Given the description of an element on the screen output the (x, y) to click on. 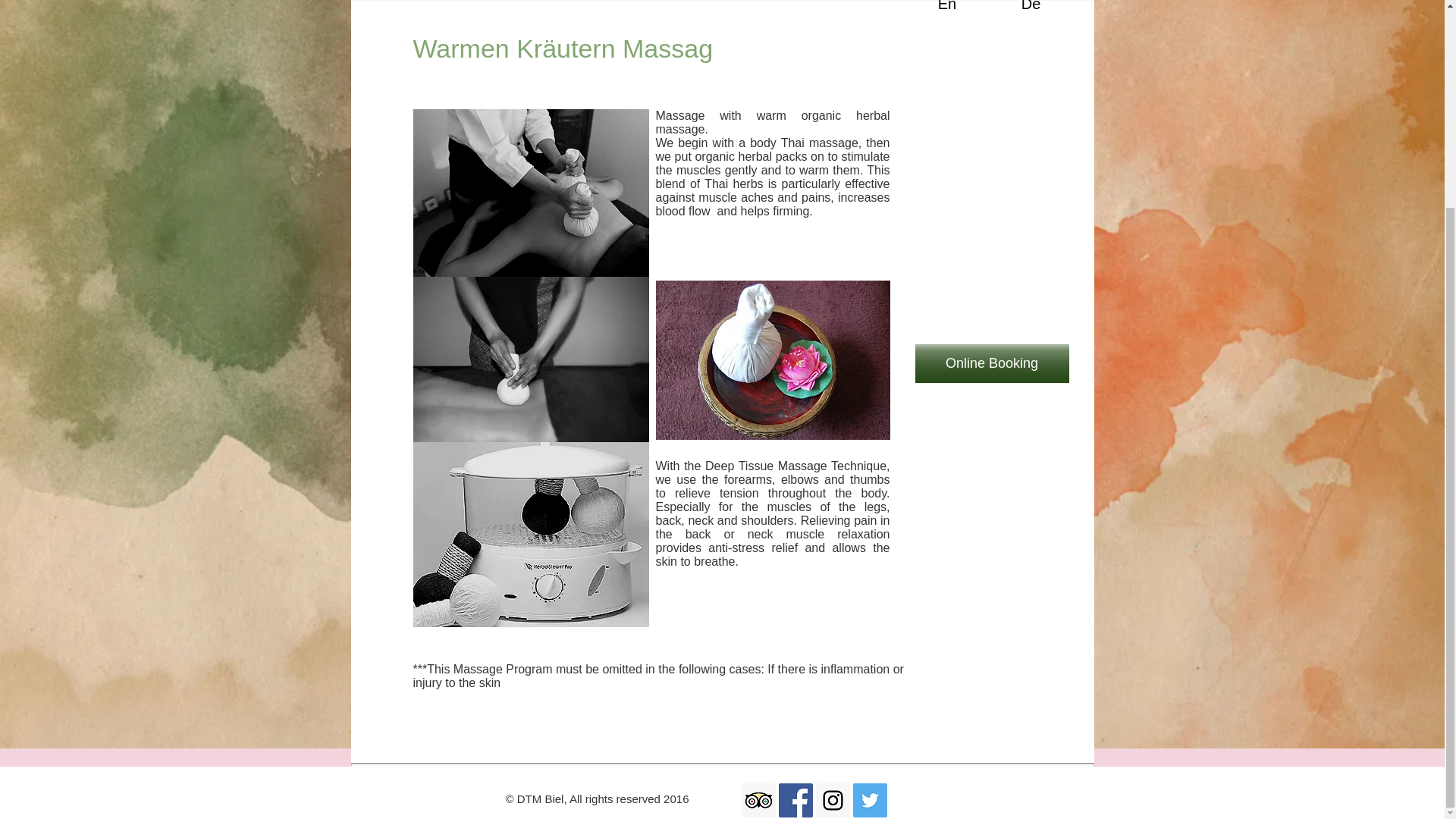
Online Booking (991, 363)
Edited Image 2016-03-20 17-18-09 (529, 534)
En (947, 19)
De (1030, 19)
